Given the description of an element on the screen output the (x, y) to click on. 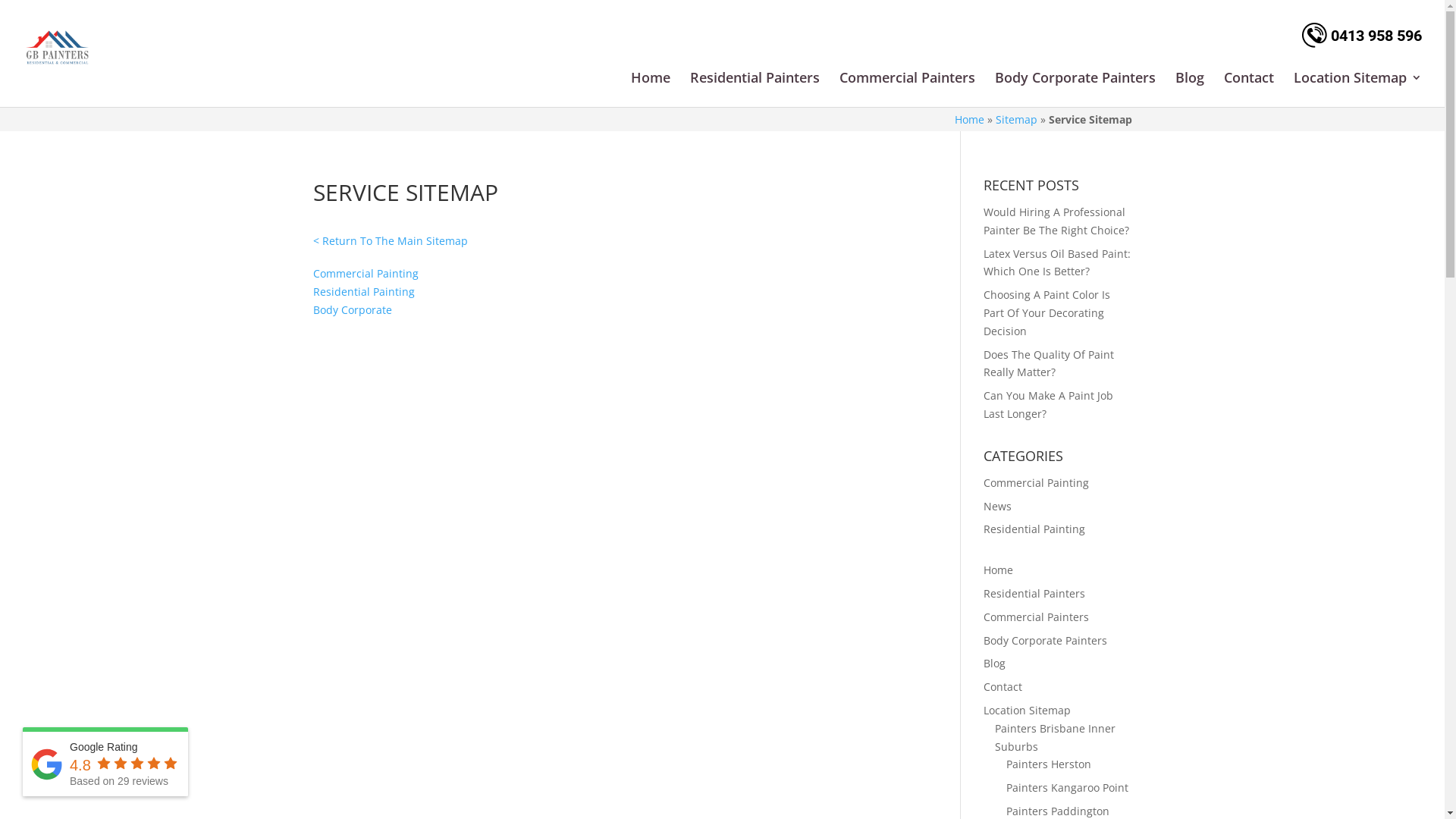
Home Element type: text (968, 119)
0413 958 596 Element type: text (1361, 35)
Body Corporate Element type: text (351, 309)
Latex Versus Oil Based Paint: Which One Is Better? Element type: text (1056, 262)
Blog Element type: text (1189, 78)
Can You Make A Paint Job Last Longer? Element type: text (1048, 404)
Choosing A Paint Color Is Part Of Your Decorating Decision Element type: text (1046, 312)
Body Corporate Painters Element type: text (1074, 78)
Blog Element type: text (994, 662)
Residential Painters Element type: text (1034, 593)
Painters Paddington Element type: text (1057, 810)
Location Sitemap Element type: text (1026, 709)
Home Element type: text (998, 569)
Body Corporate Painters Element type: text (1045, 640)
Does The Quality Of Paint Really Matter? Element type: text (1048, 363)
Painters Kangaroo Point Element type: text (1067, 787)
Contact Element type: text (1002, 686)
Commercial Painting Element type: text (364, 273)
Would Hiring A Professional Painter Be The Right Choice? Element type: text (1056, 220)
< Return To The Main Sitemap Element type: text (389, 240)
Commercial Painters Element type: text (1035, 616)
Home Element type: text (650, 78)
Residential Painting Element type: text (363, 291)
News Element type: text (997, 505)
Commercial Painters Element type: text (907, 78)
Contact Element type: text (1248, 78)
Residential Painters Element type: text (754, 78)
Location Sitemap Element type: text (1357, 78)
Painters Herston Element type: text (1048, 763)
Sitemap Element type: text (1015, 119)
Painters Brisbane Inner Suburbs Element type: text (1054, 737)
Residential Painting Element type: text (1034, 528)
Commercial Painting Element type: text (1035, 482)
